Given the description of an element on the screen output the (x, y) to click on. 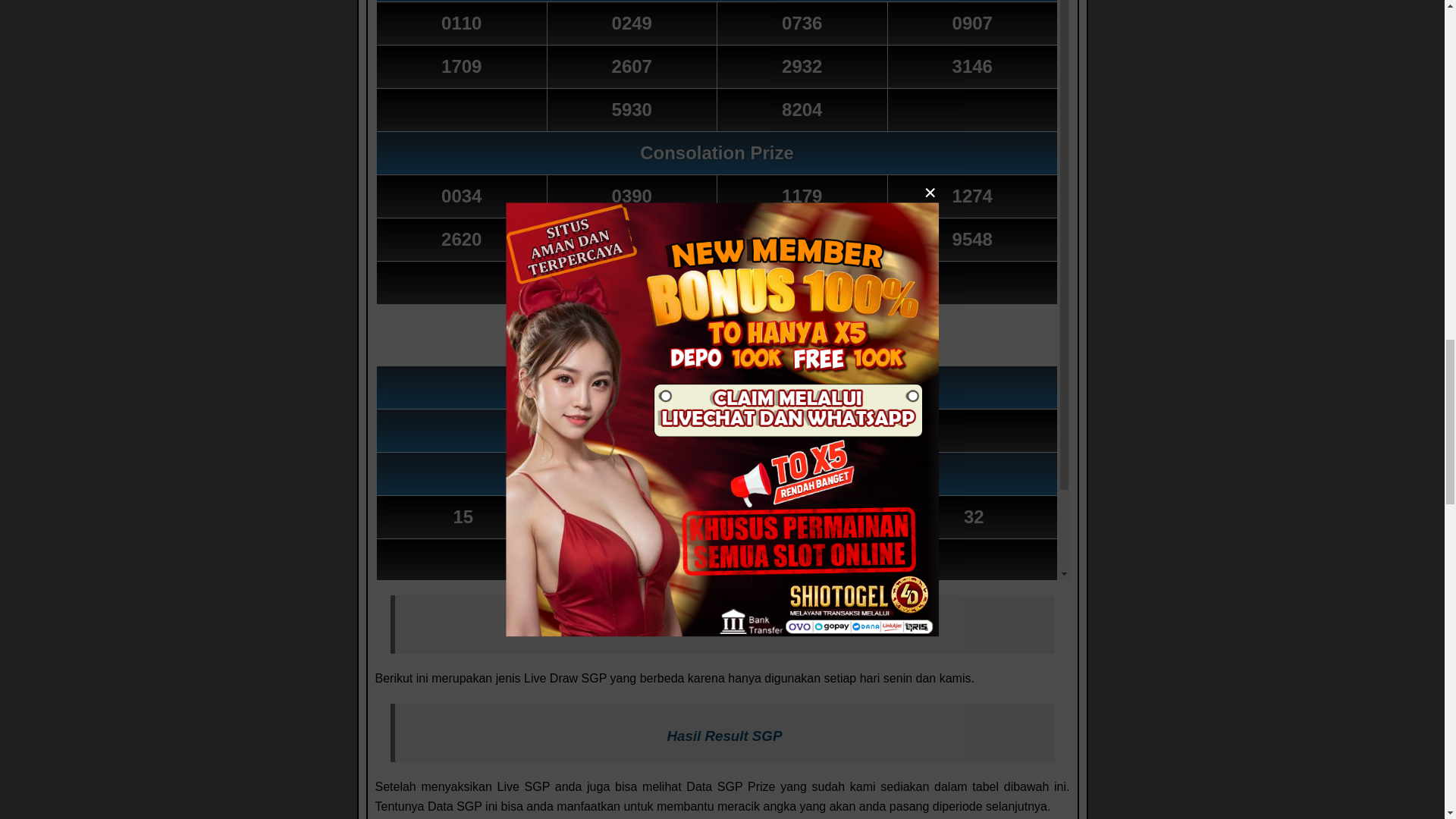
Live Draw SGP TOTO (723, 627)
Hasil Result SGP (723, 735)
Live Draw SGP TOTO (724, 627)
Hasil Result SGP (724, 735)
